Given the description of an element on the screen output the (x, y) to click on. 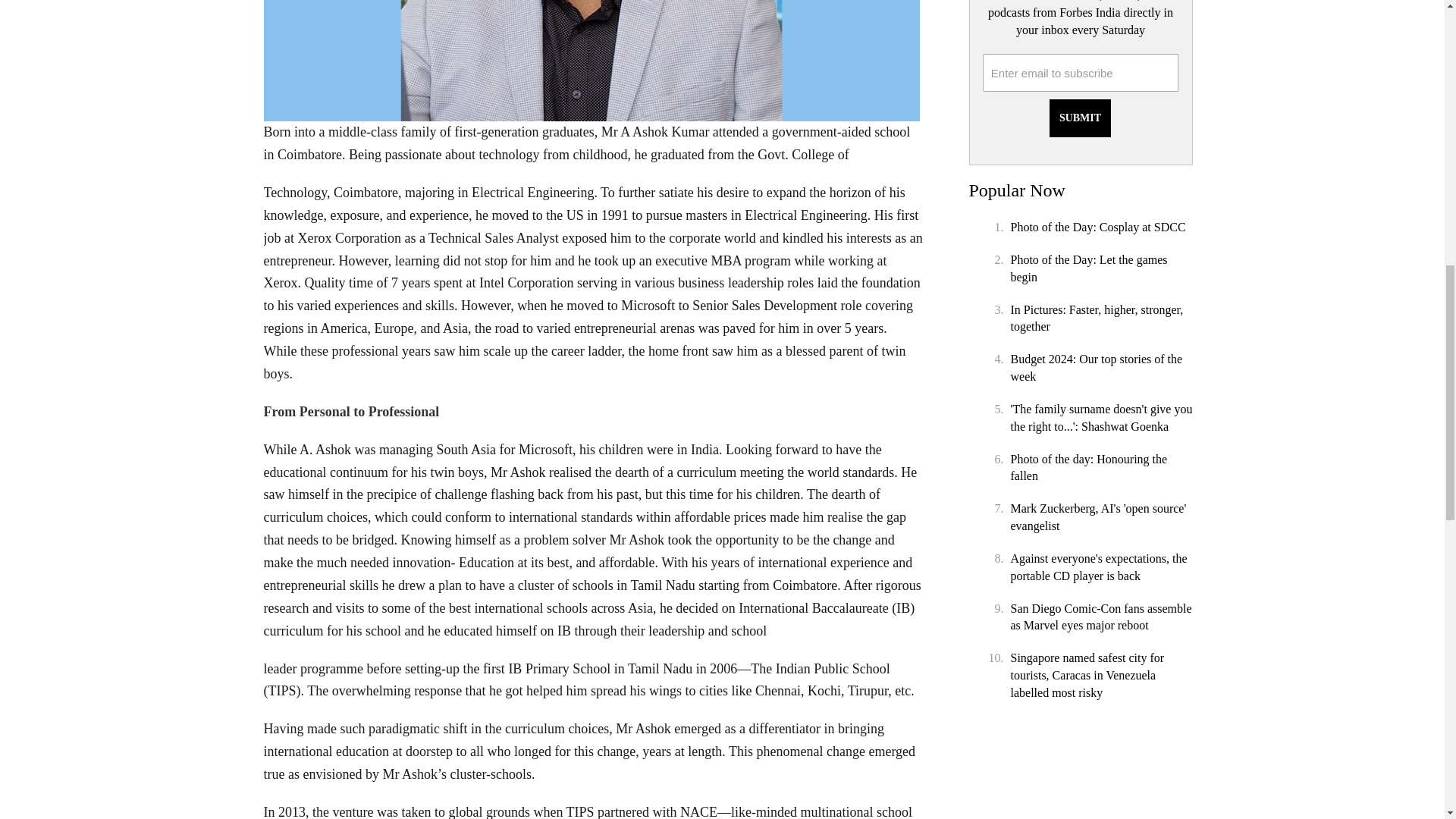
Raising the Bar of Education (593, 61)
